Given the description of an element on the screen output the (x, y) to click on. 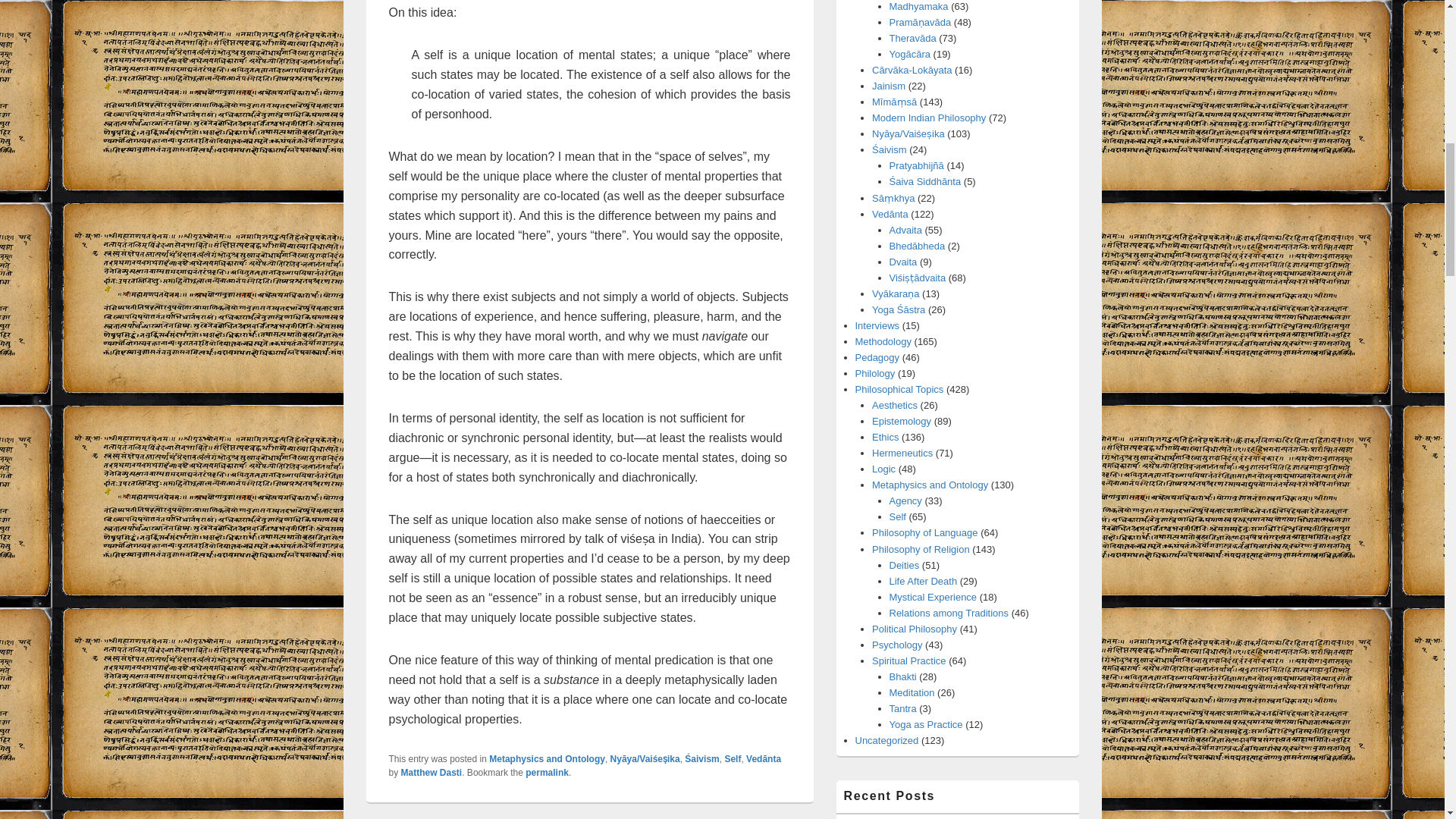
Matthew Dasti (432, 772)
Metaphysics and Ontology (547, 758)
Self (732, 758)
Permalink to I am a place (547, 772)
permalink (547, 772)
